Given the description of an element on the screen output the (x, y) to click on. 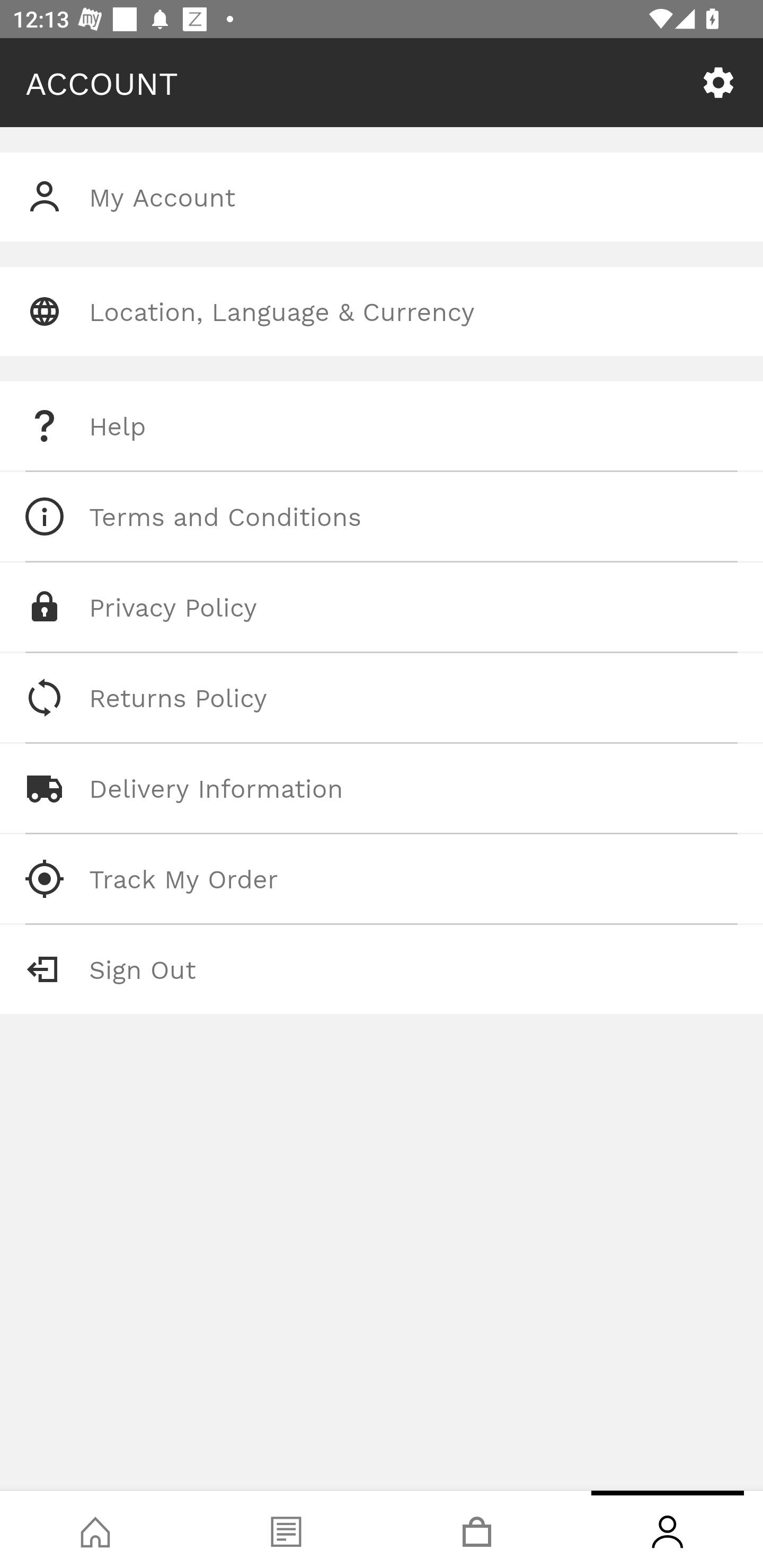
SETTINGS (718, 82)
My Account (381, 196)
Location, Language & Currency (381, 310)
Help (381, 425)
Terms and Conditions (381, 516)
Privacy Policy (381, 607)
Returns Policy (381, 697)
Delivery Information (381, 787)
Track My Order (381, 878)
Sign Out (381, 969)
Shop, tab, 1 of 4 (95, 1529)
Blog, tab, 2 of 4 (285, 1529)
Basket, tab, 3 of 4 (476, 1529)
Account, tab, 4 of 4 (667, 1529)
